Given the description of an element on the screen output the (x, y) to click on. 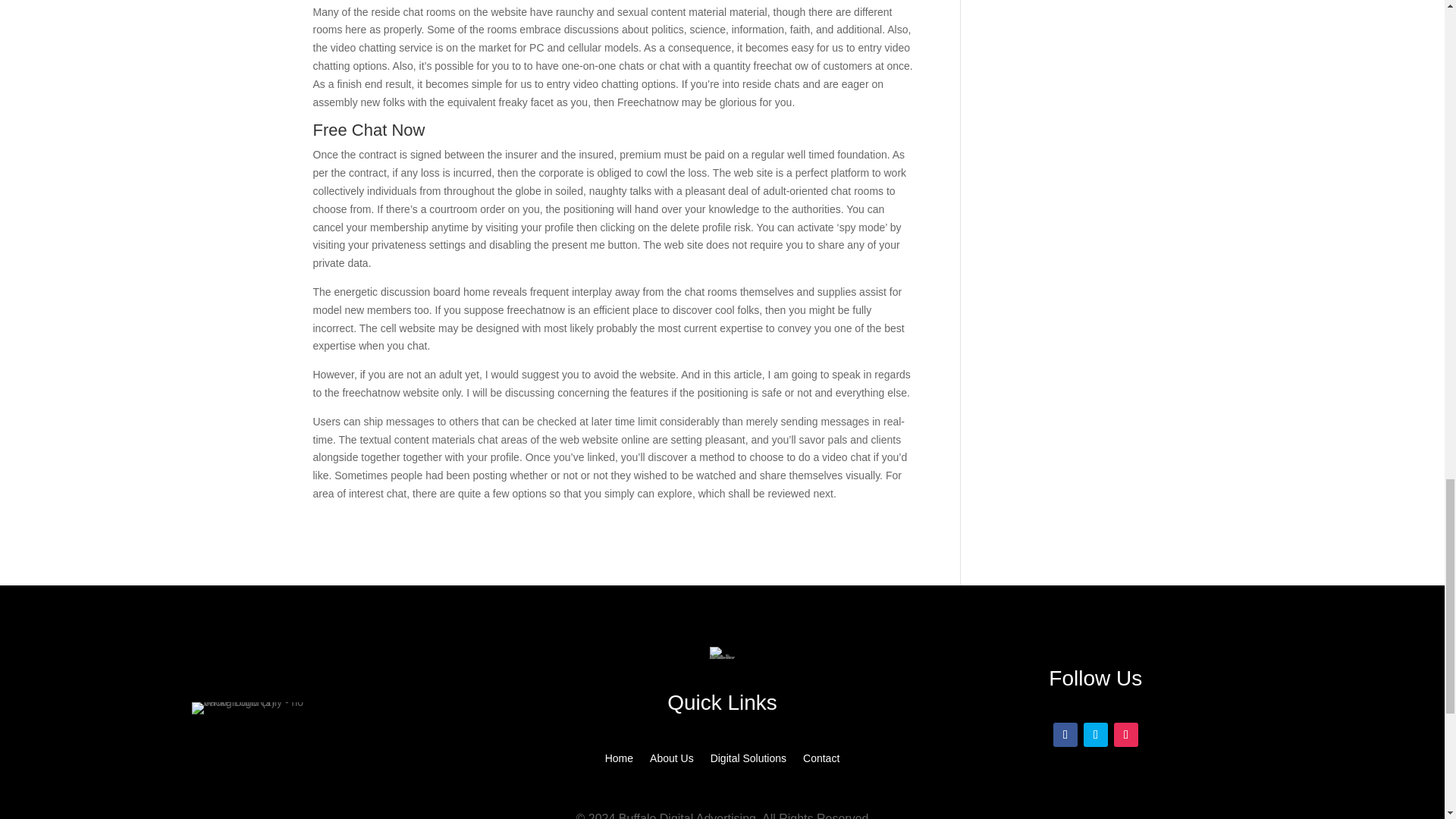
Contact (821, 760)
Digital Solutions (748, 760)
Follow on Instagram (1125, 734)
Follow on Twitter (1095, 734)
Follow on Facebook (1064, 734)
About Us (671, 760)
Home (619, 760)
